Given the description of an element on the screen output the (x, y) to click on. 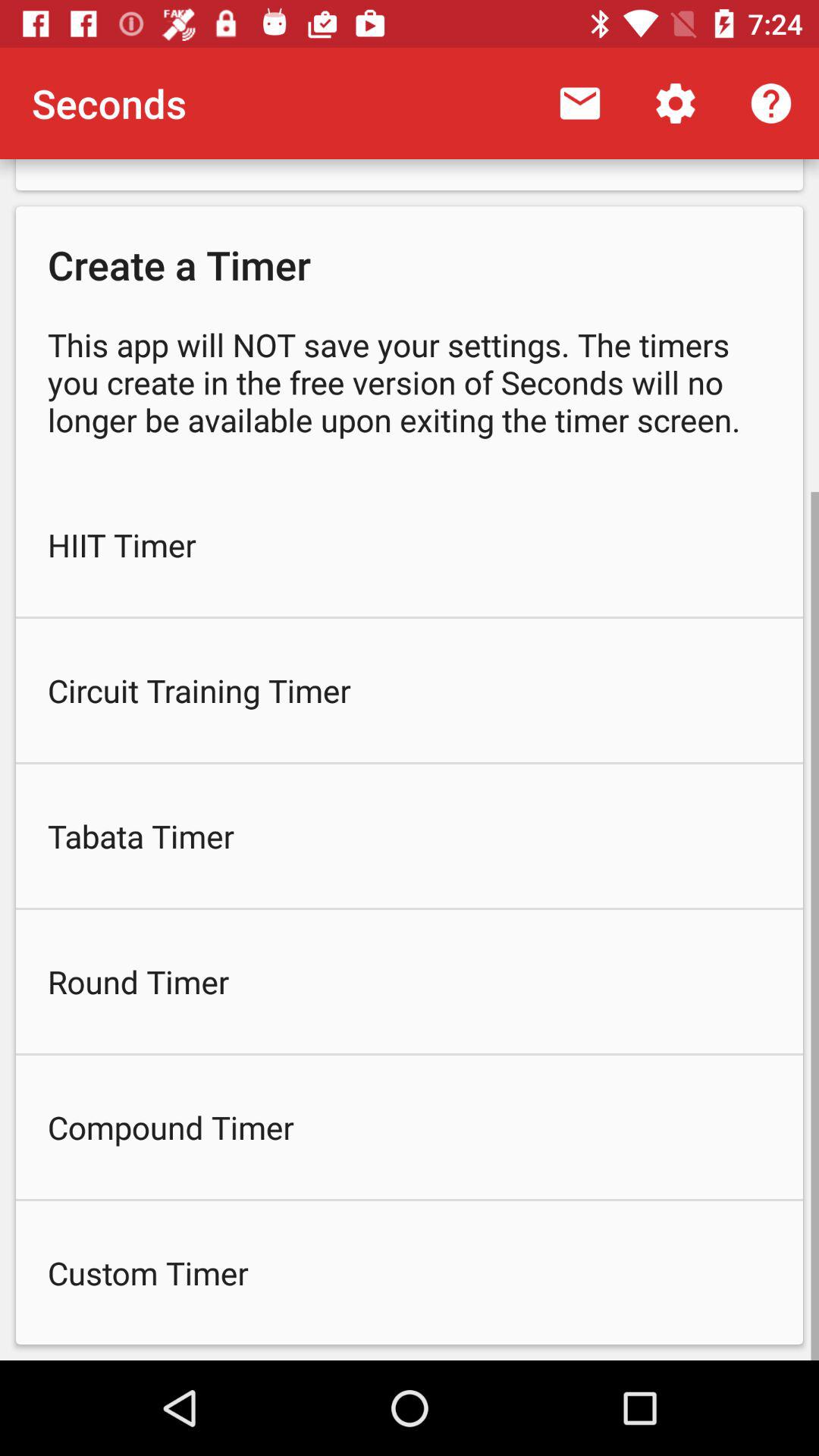
tap round timer (409, 981)
